Given the description of an element on the screen output the (x, y) to click on. 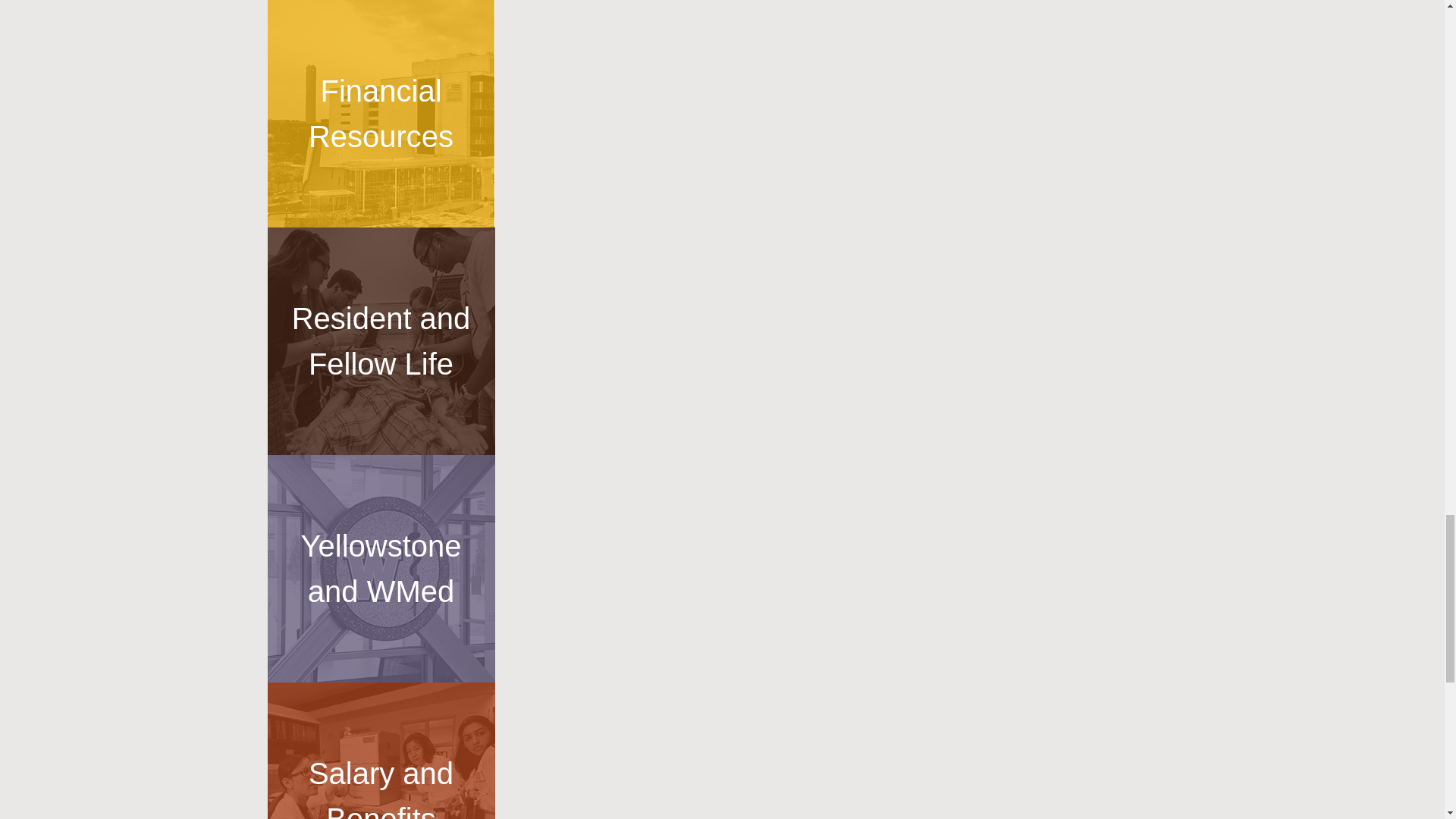
Salary and Benefits (380, 750)
Resident and Fellow Life (380, 341)
Yellowstone and WMed (380, 568)
Financial Resources (380, 113)
